Given the description of an element on the screen output the (x, y) to click on. 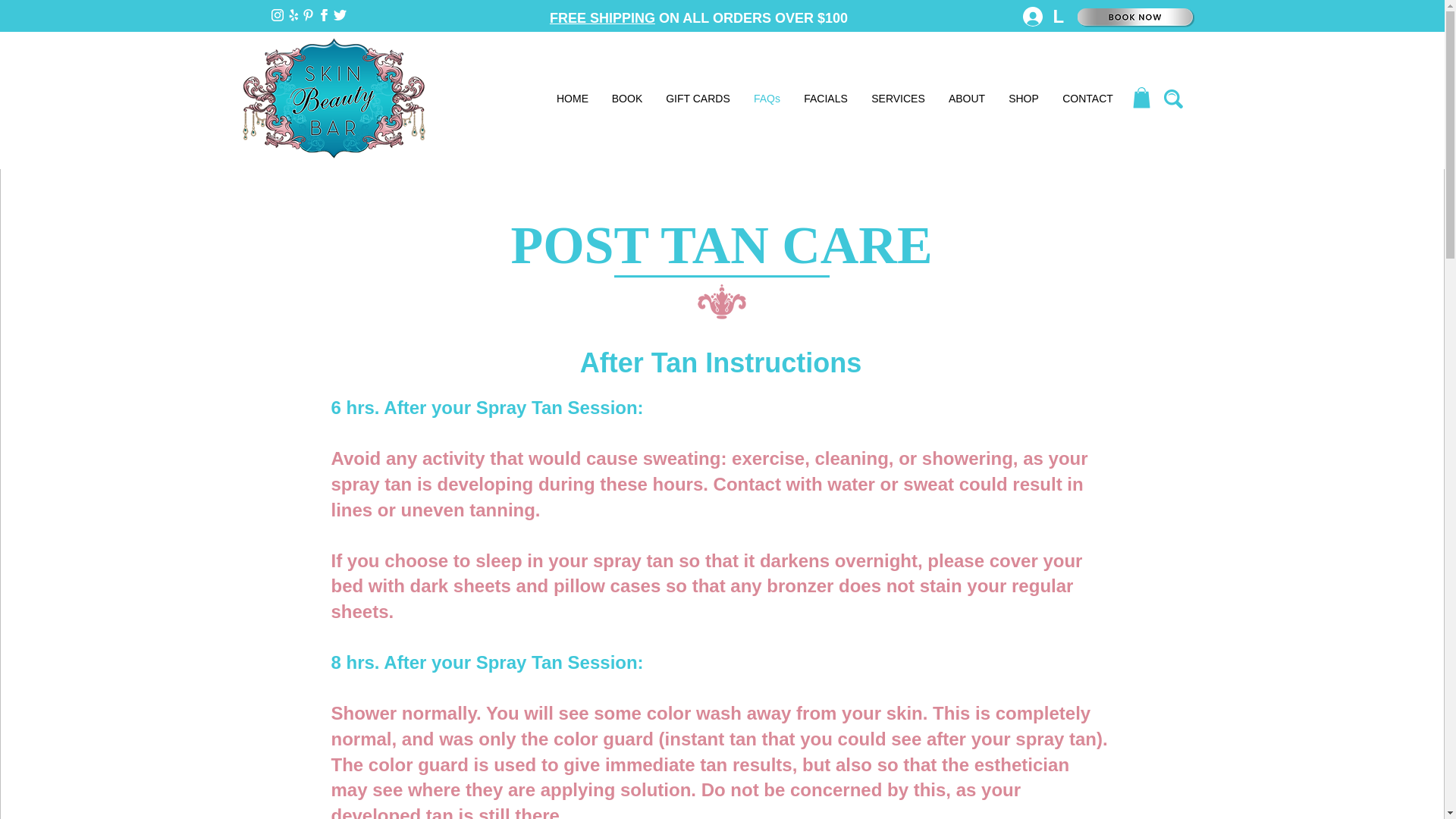
BOOK (626, 98)
HOME (571, 98)
GIFT CARDS (697, 98)
SHOP (1022, 98)
fluer.png (721, 301)
FACIALS (825, 98)
iconmonstr-magnifier-4-240.png (1172, 98)
ABOUT (967, 98)
instagram-white-NOCIRCLE.png (276, 15)
FAQs (766, 98)
